Given the description of an element on the screen output the (x, y) to click on. 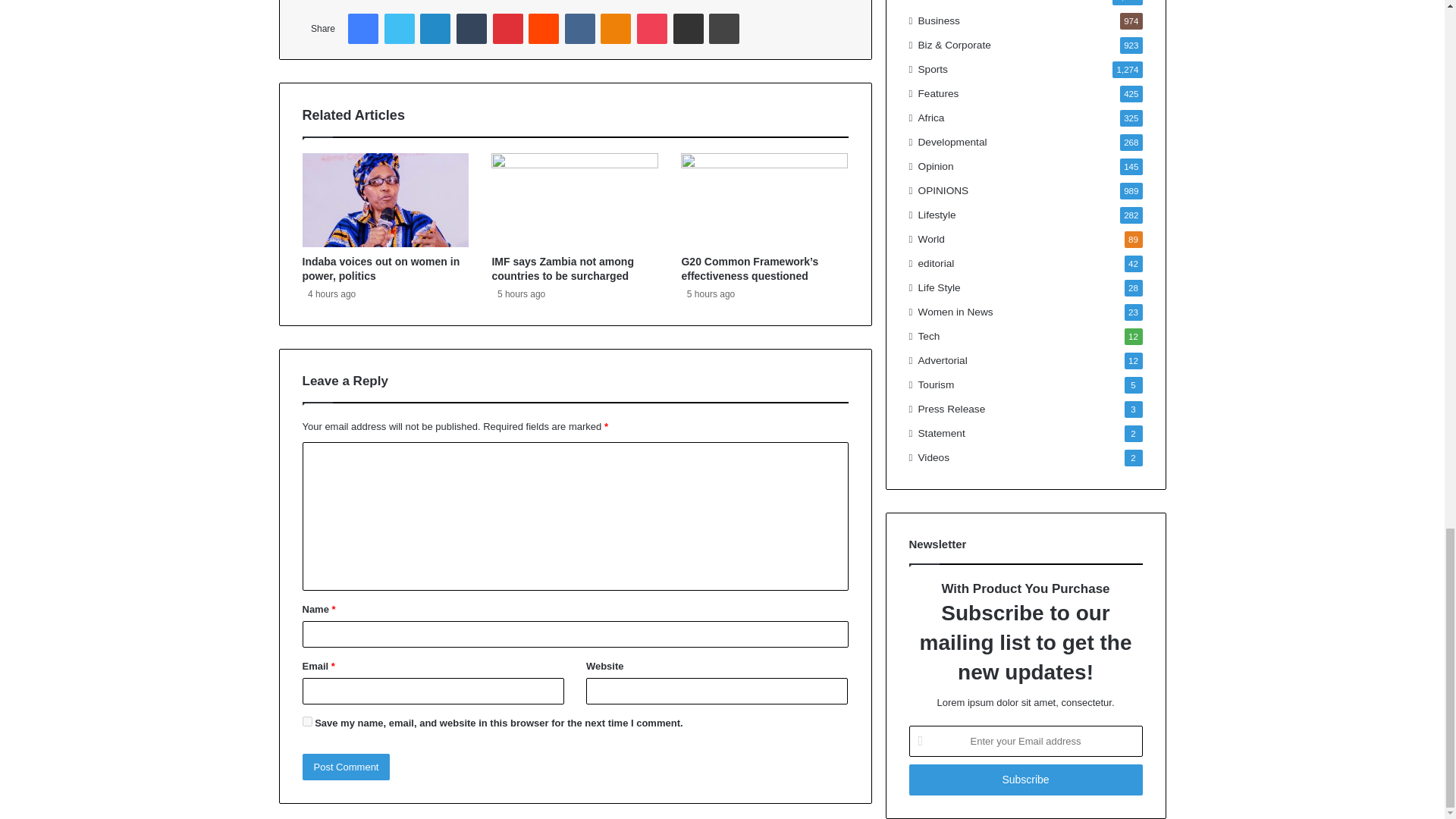
Post Comment (345, 766)
Subscribe (1025, 779)
yes (306, 721)
